Given the description of an element on the screen output the (x, y) to click on. 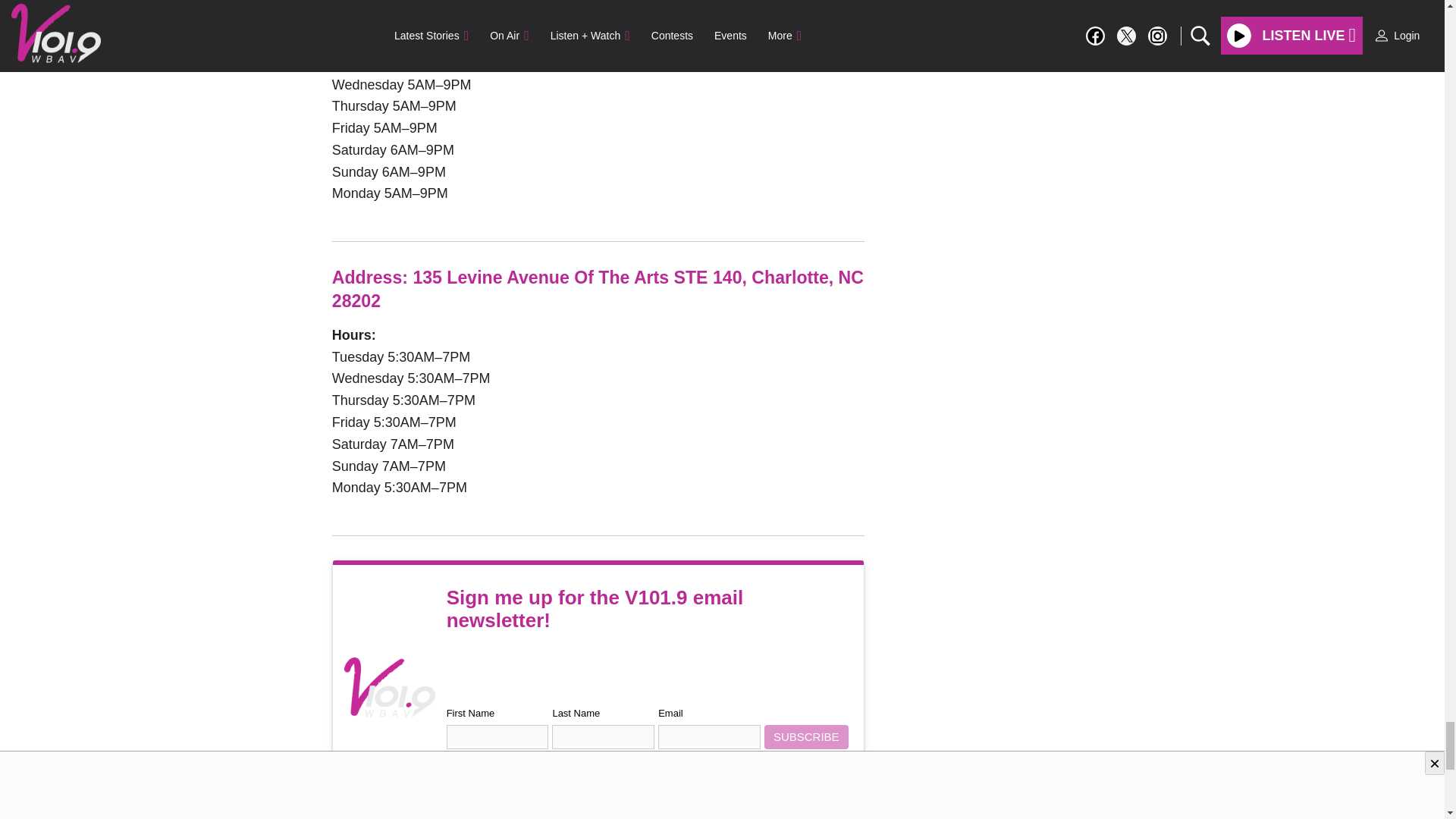
on (451, 767)
